Given the description of an element on the screen output the (x, y) to click on. 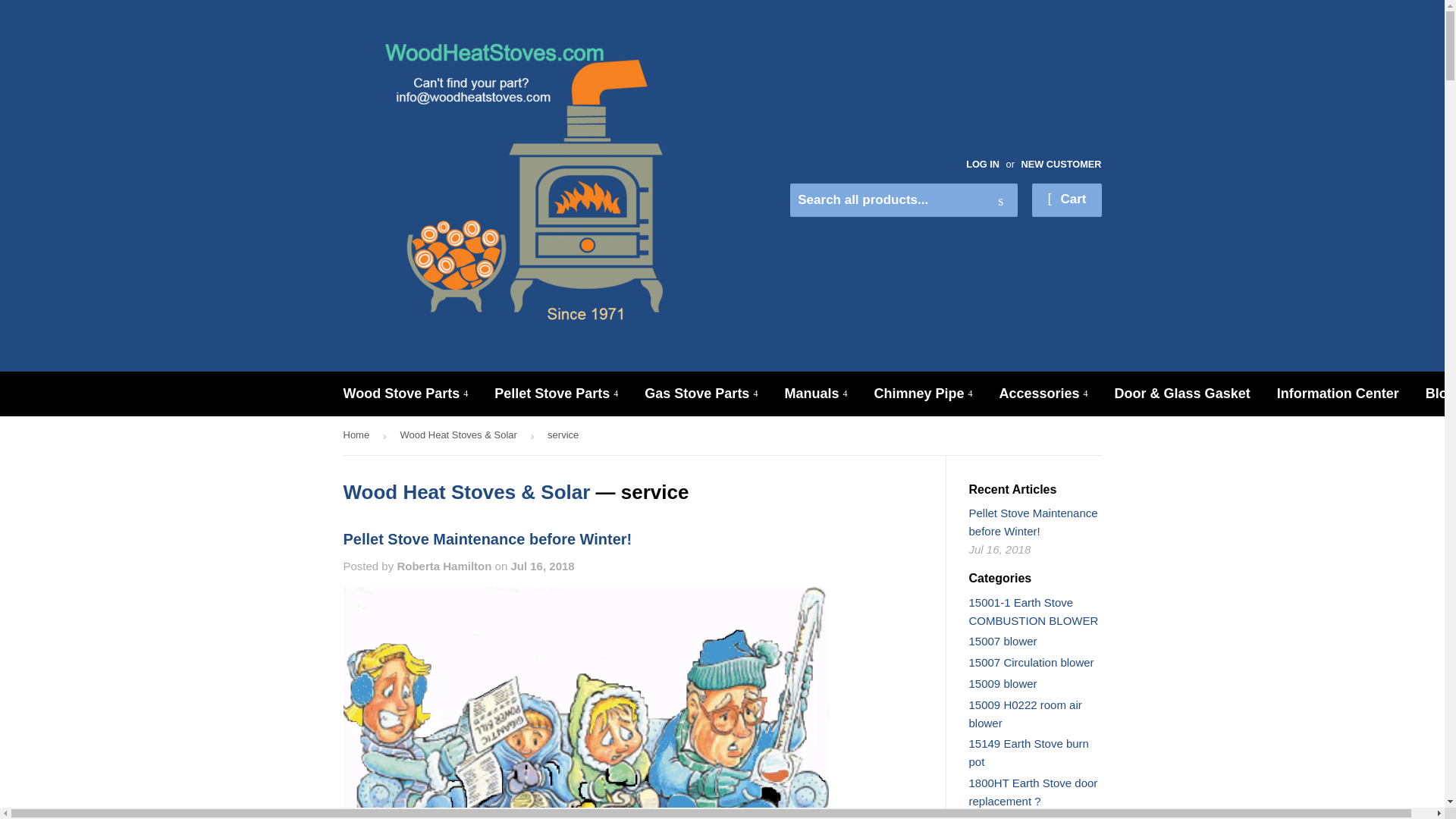
Gas Stove Parts (700, 393)
Show articles tagged 15007 blower (1002, 640)
Wood Stove Parts (405, 393)
Show articles tagged 15149 Earth Stove burn pot (1029, 752)
Search (1000, 201)
Show articles tagged 15007 Circulation blower (1031, 662)
Show articles tagged 15009 H0222 room air blower (1025, 713)
LOG IN (982, 163)
Show articles tagged 15001-1 Earth Stove COMBUSTION BLOWER (1034, 611)
Show articles tagged 38515H Control (1008, 817)
Show articles tagged 1800HT Earth Stove door replacement ? (1033, 791)
NEW CUSTOMER (1060, 163)
Pellet Stove Parts (555, 393)
Show articles tagged 15009 blower (1002, 683)
Cart (1066, 200)
